Given the description of an element on the screen output the (x, y) to click on. 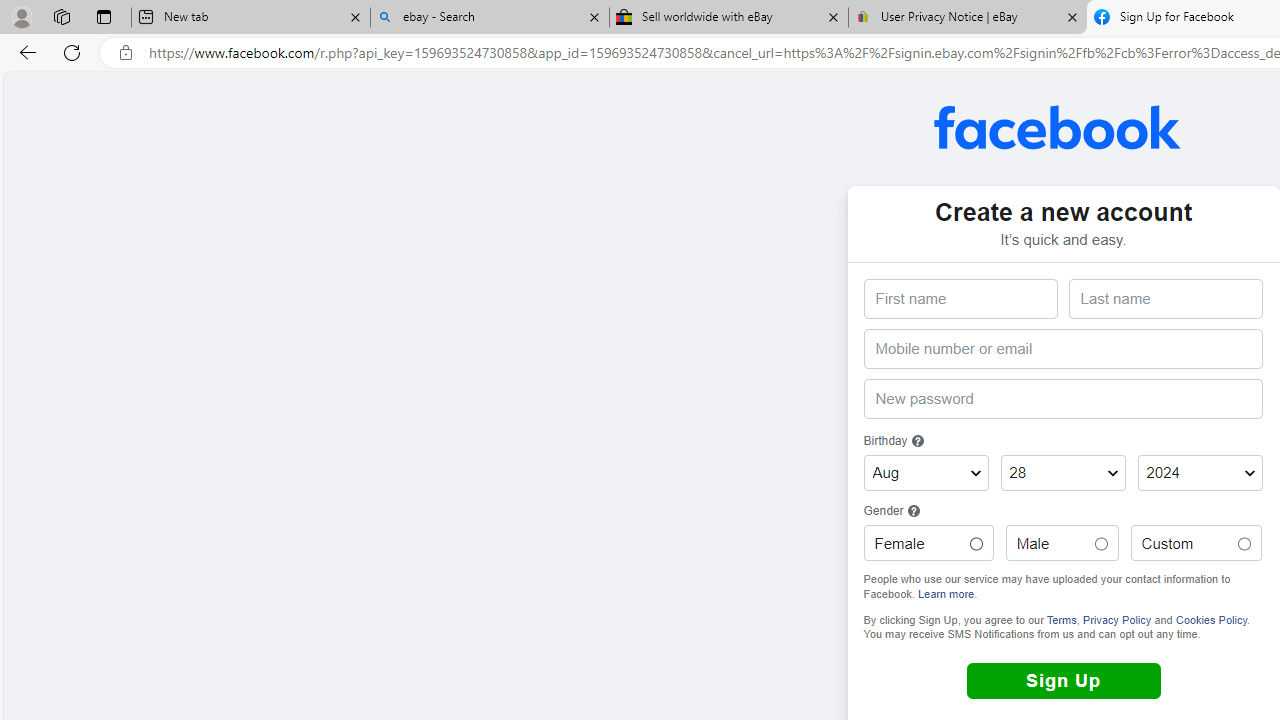
Facebook (1057, 127)
Day (1062, 473)
User Privacy Notice | eBay (967, 17)
First name (960, 299)
Year (1199, 473)
